Given the description of an element on the screen output the (x, y) to click on. 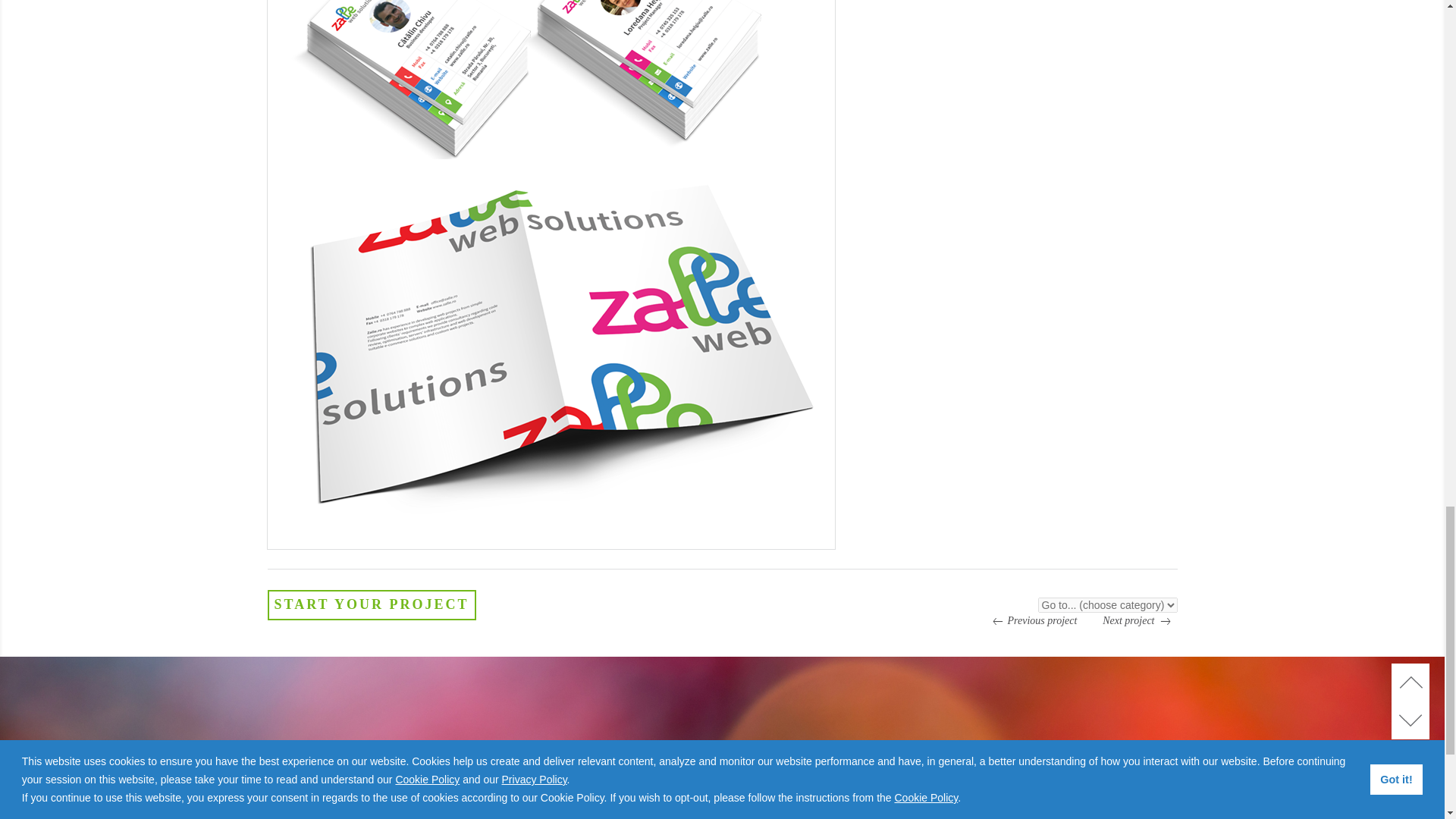
Previous project (1030, 620)
Next project (1139, 620)
START YOUR PROJECT (370, 605)
